Given the description of an element on the screen output the (x, y) to click on. 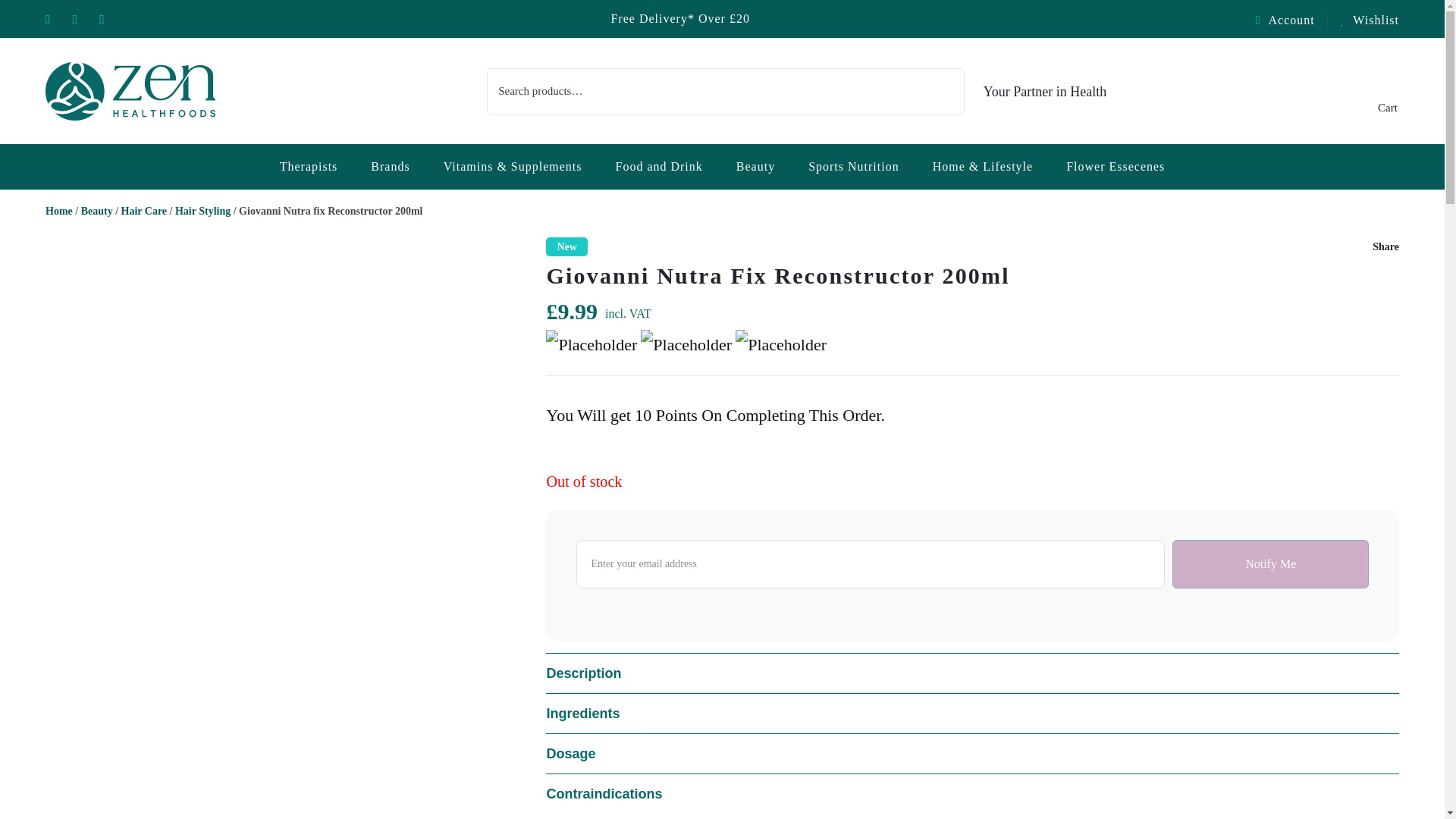
Therapists (308, 166)
Wishlist (1369, 19)
Account (1292, 19)
Notify me (1270, 563)
